Given the description of an element on the screen output the (x, y) to click on. 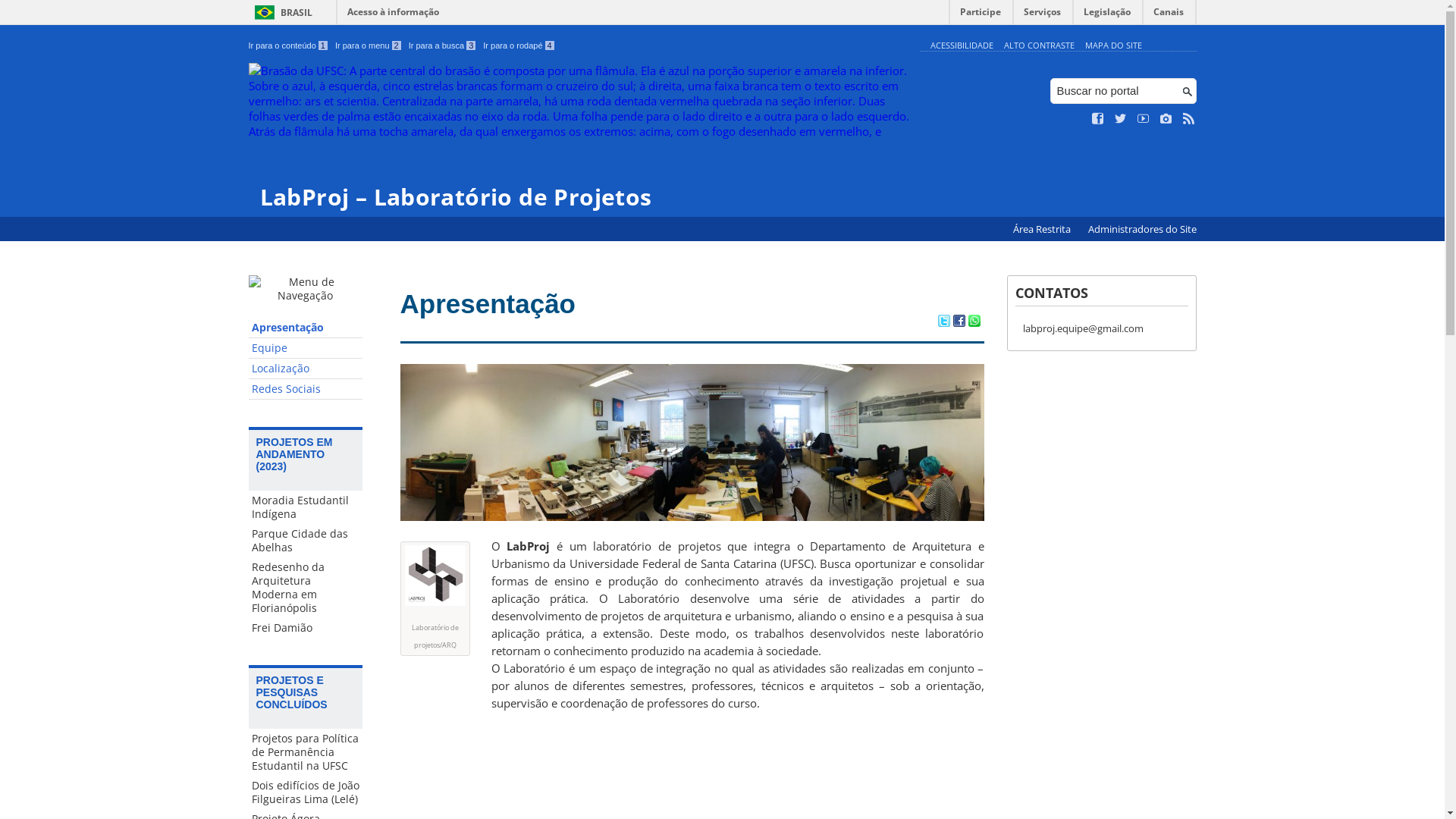
Administradores do Site Element type: text (1141, 228)
Compartilhar no Twitter Element type: hover (943, 321)
Parque Cidade das Abelhas Element type: text (305, 540)
ACESSIBILIDADE Element type: text (960, 44)
Veja no Instagram Element type: hover (1166, 118)
Curta no Facebook Element type: hover (1098, 118)
Participe Element type: text (980, 15)
Ir para a busca 3 Element type: text (442, 45)
Siga no Twitter Element type: hover (1120, 118)
ALTO CONTRASTE Element type: text (1039, 44)
Redes Sociais Element type: text (305, 389)
Ir para o menu 2 Element type: text (368, 45)
Compartilhar no WhatsApp Element type: hover (973, 321)
Equipe Element type: text (305, 348)
BRASIL Element type: text (280, 12)
Compartilhar no Facebook Element type: hover (958, 321)
Canais Element type: text (1169, 15)
MAPA DO SITE Element type: text (1112, 44)
